Given the description of an element on the screen output the (x, y) to click on. 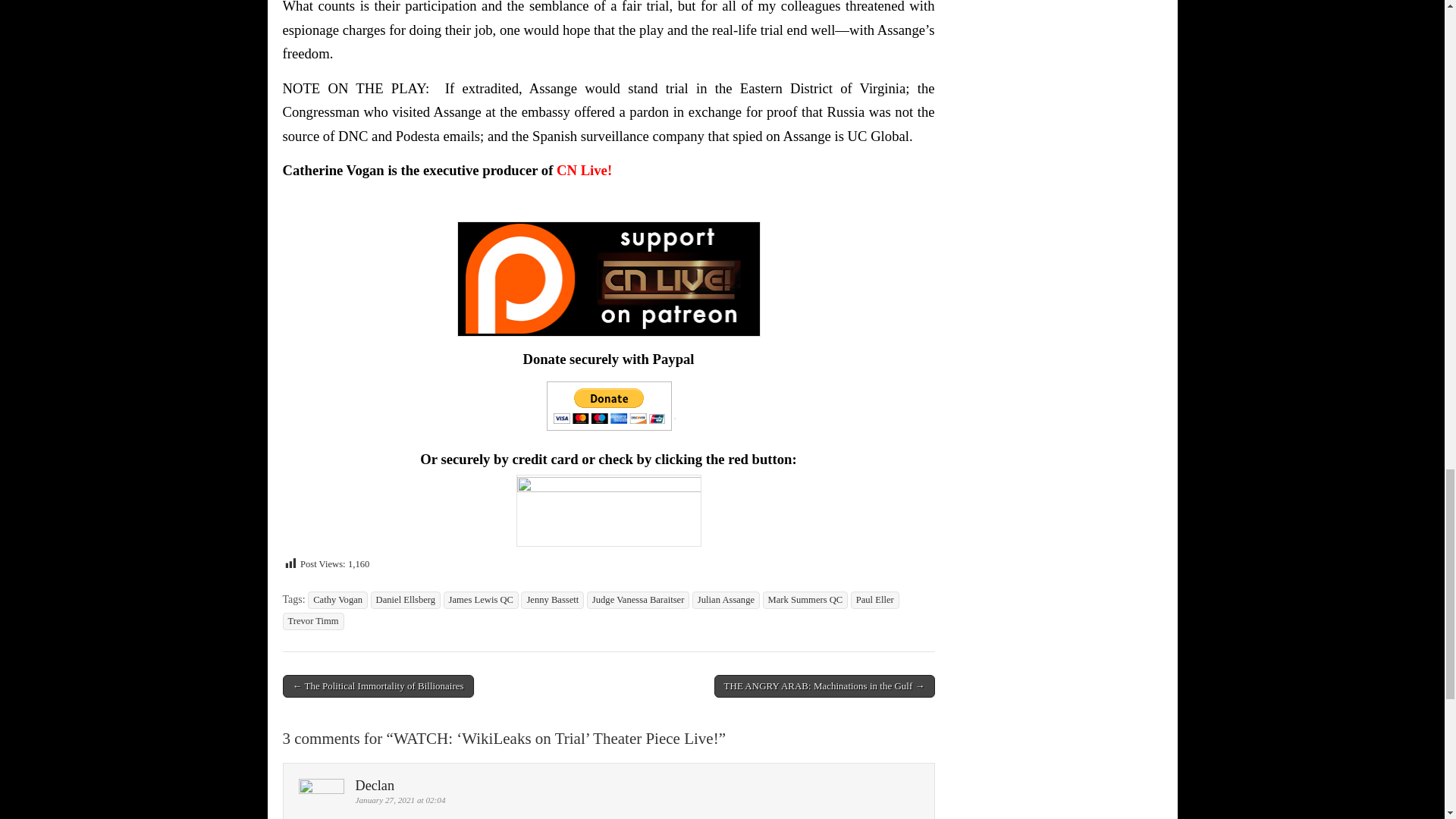
James Lewis QC (481, 600)
Cathy Vogan (337, 600)
Daniel Ellsberg (406, 600)
PayPal - The safer, easier way to pay online! (609, 405)
Jenny Bassett (552, 600)
